Given the description of an element on the screen output the (x, y) to click on. 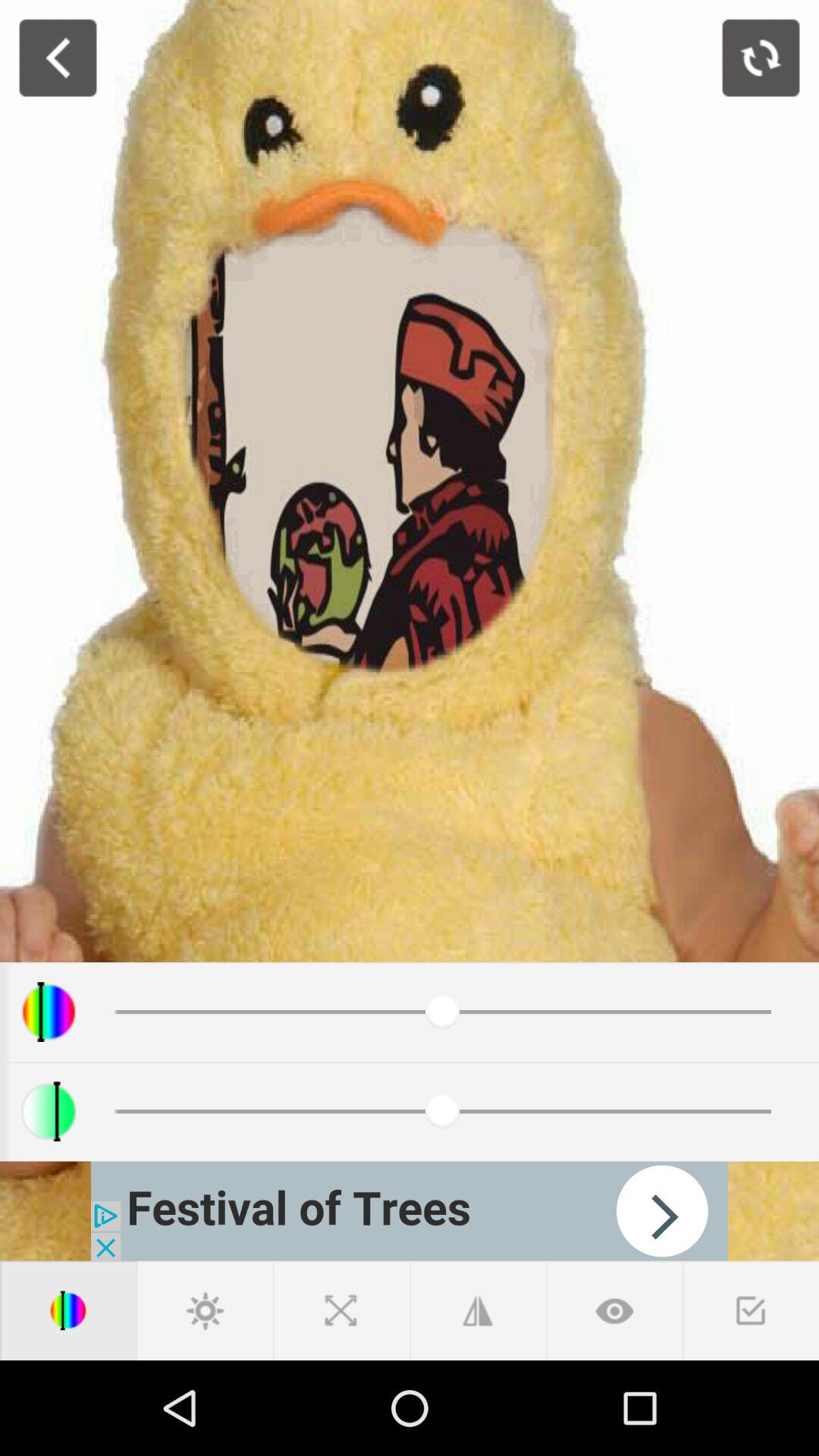
select to approve (750, 1310)
